Given the description of an element on the screen output the (x, y) to click on. 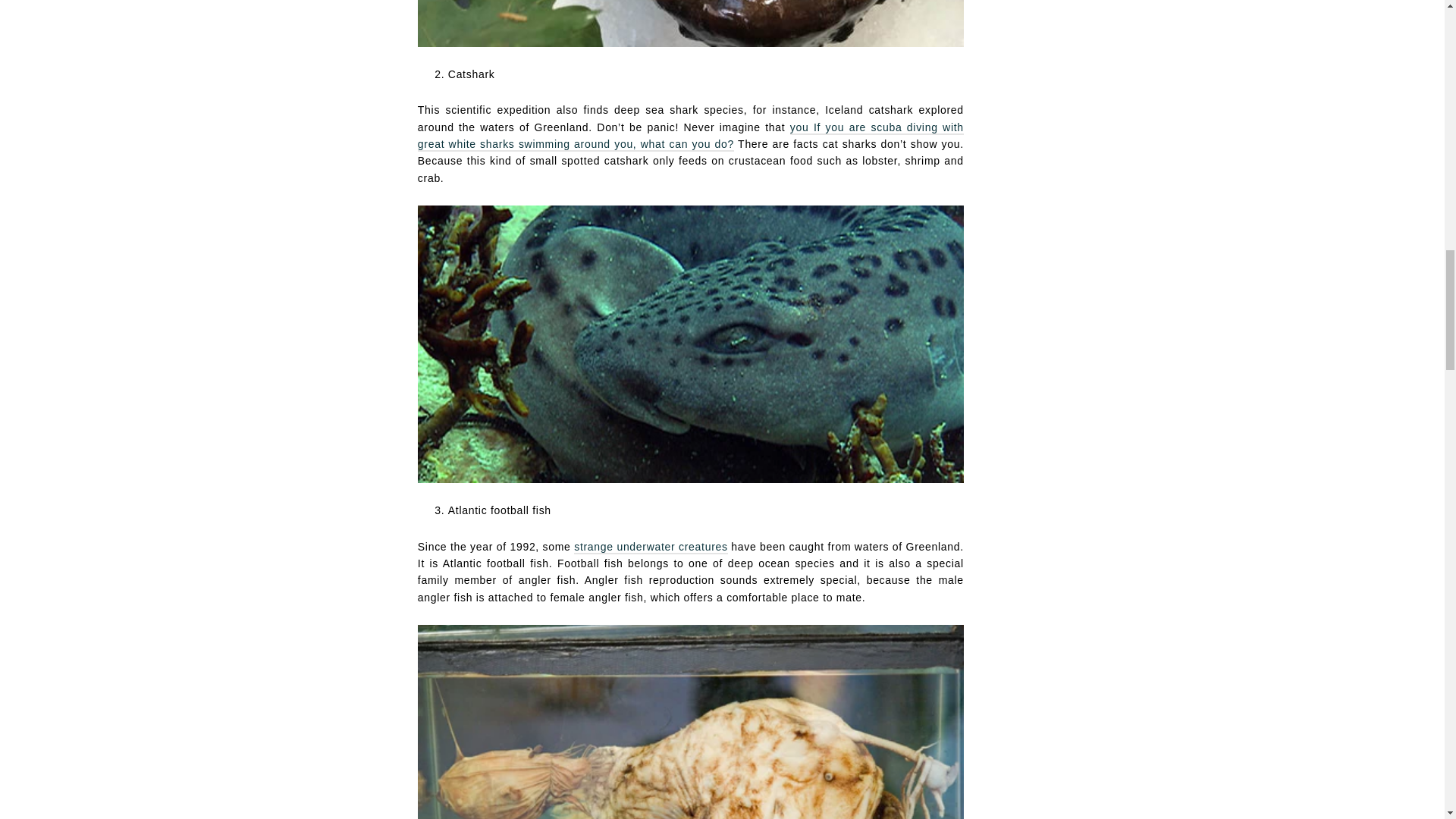
strange underwater creatures (650, 547)
strange underwater creatures (650, 547)
